Given the description of an element on the screen output the (x, y) to click on. 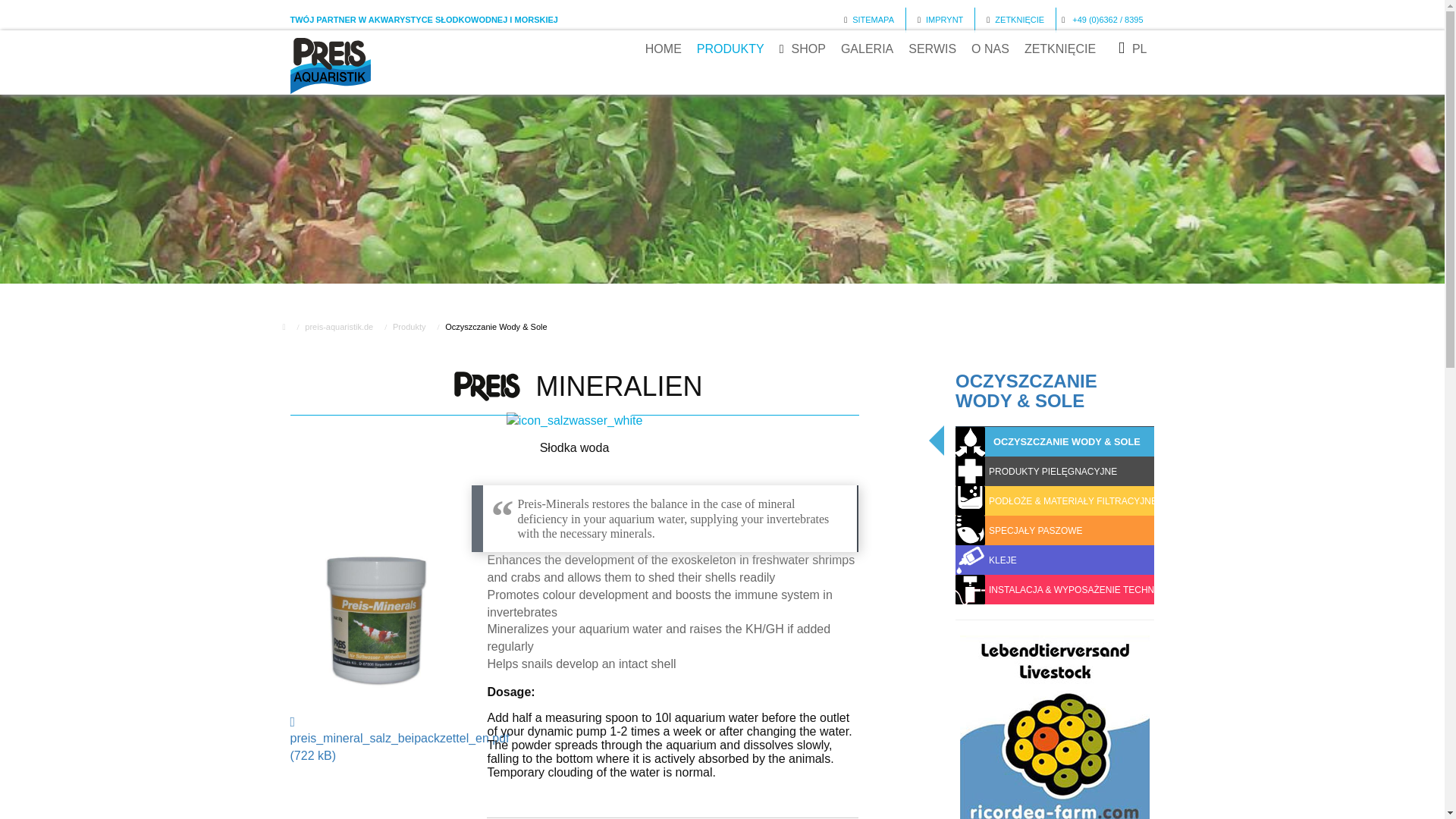
serwis (932, 48)
GALERIA (866, 48)
galeria (866, 48)
produkty (729, 48)
SERWIS (932, 48)
PL (1132, 48)
Produkty (409, 326)
preis-aquaristik.de (338, 326)
SHOP (801, 48)
O NAS (989, 48)
